Given the description of an element on the screen output the (x, y) to click on. 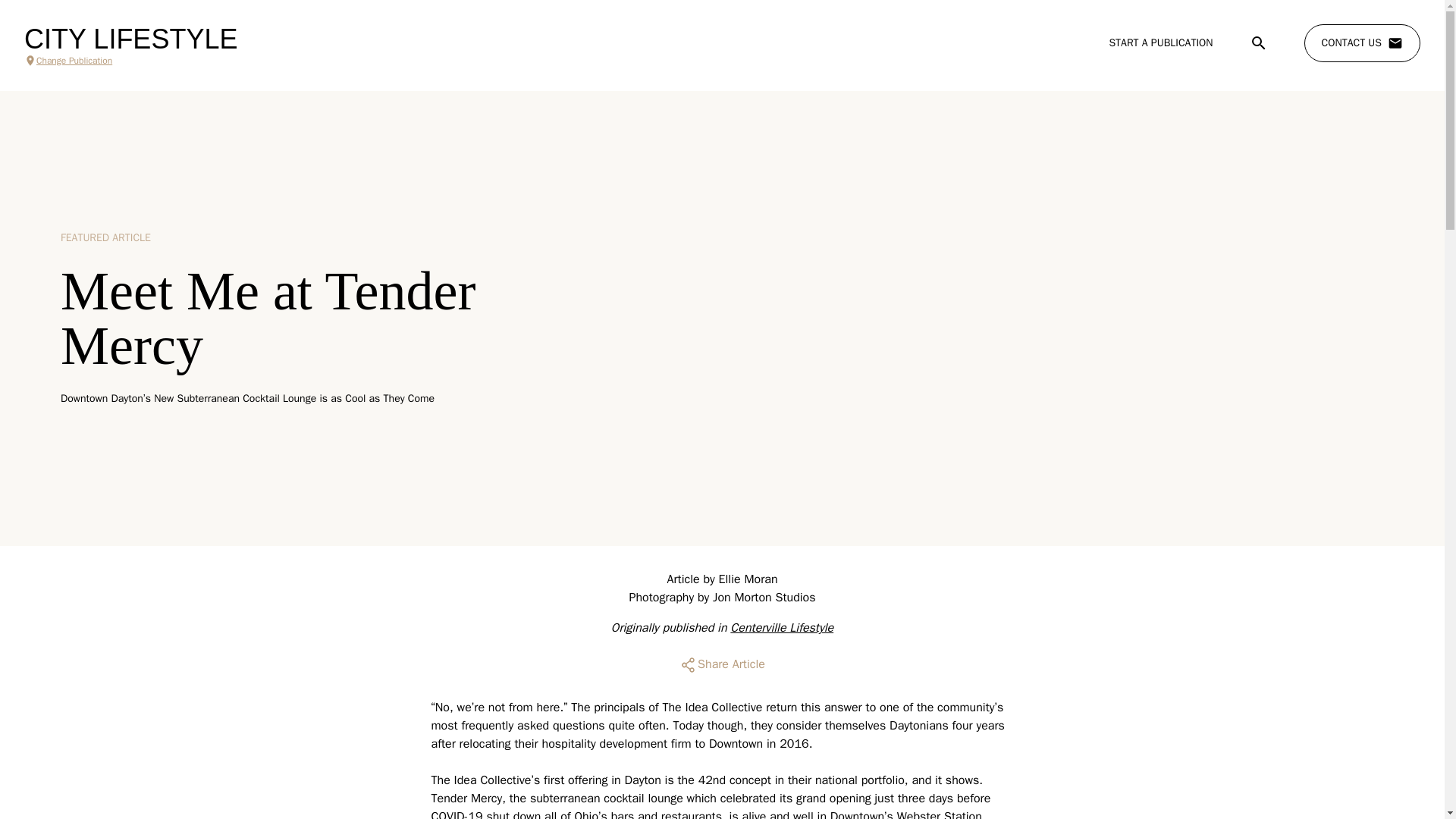
CITY LIFESTYLE (130, 39)
Change Publication (130, 60)
Centerville Lifestyle (781, 627)
Share Article (722, 664)
START A PUBLICATION (1160, 42)
CONTACT US (1362, 43)
